Given the description of an element on the screen output the (x, y) to click on. 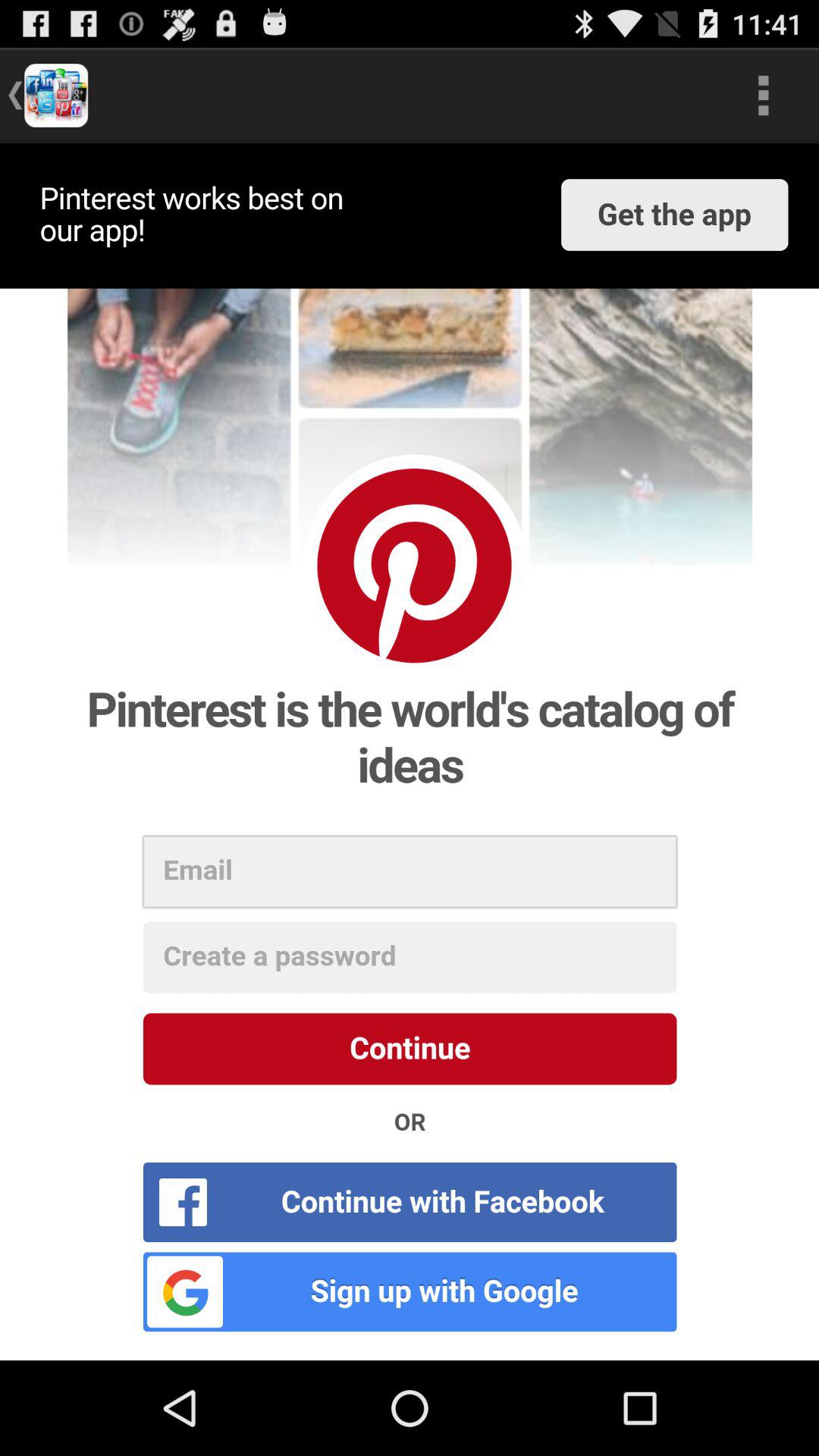
log in to app (409, 751)
